Given the description of an element on the screen output the (x, y) to click on. 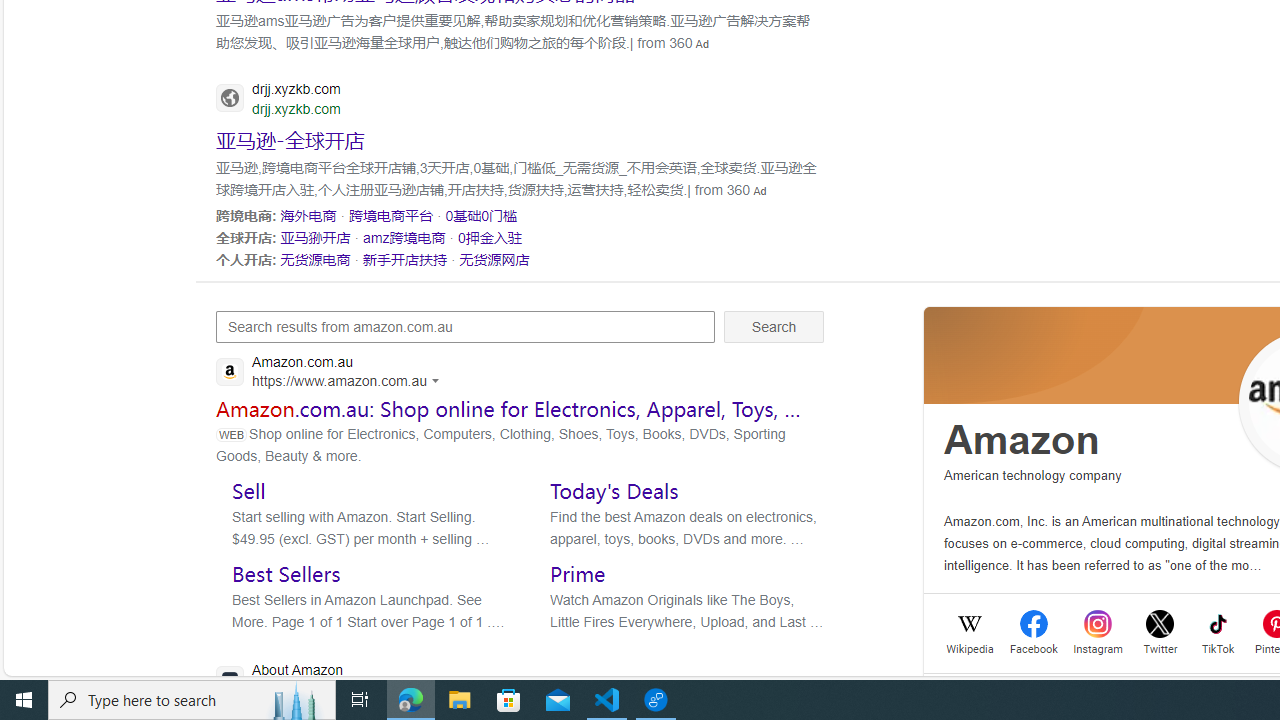
Today's Deals (614, 489)
Global web icon (229, 679)
Prime (577, 573)
Instagram (1097, 646)
SERP,5572 (315, 259)
Actions for this site (438, 380)
SERP,5571 (489, 237)
TikTok (1217, 646)
SERP,5566 (308, 215)
About Amazon (398, 681)
SERP,5569 (315, 237)
Twitter (1160, 646)
Wikipedia (969, 646)
